Given the description of an element on the screen output the (x, y) to click on. 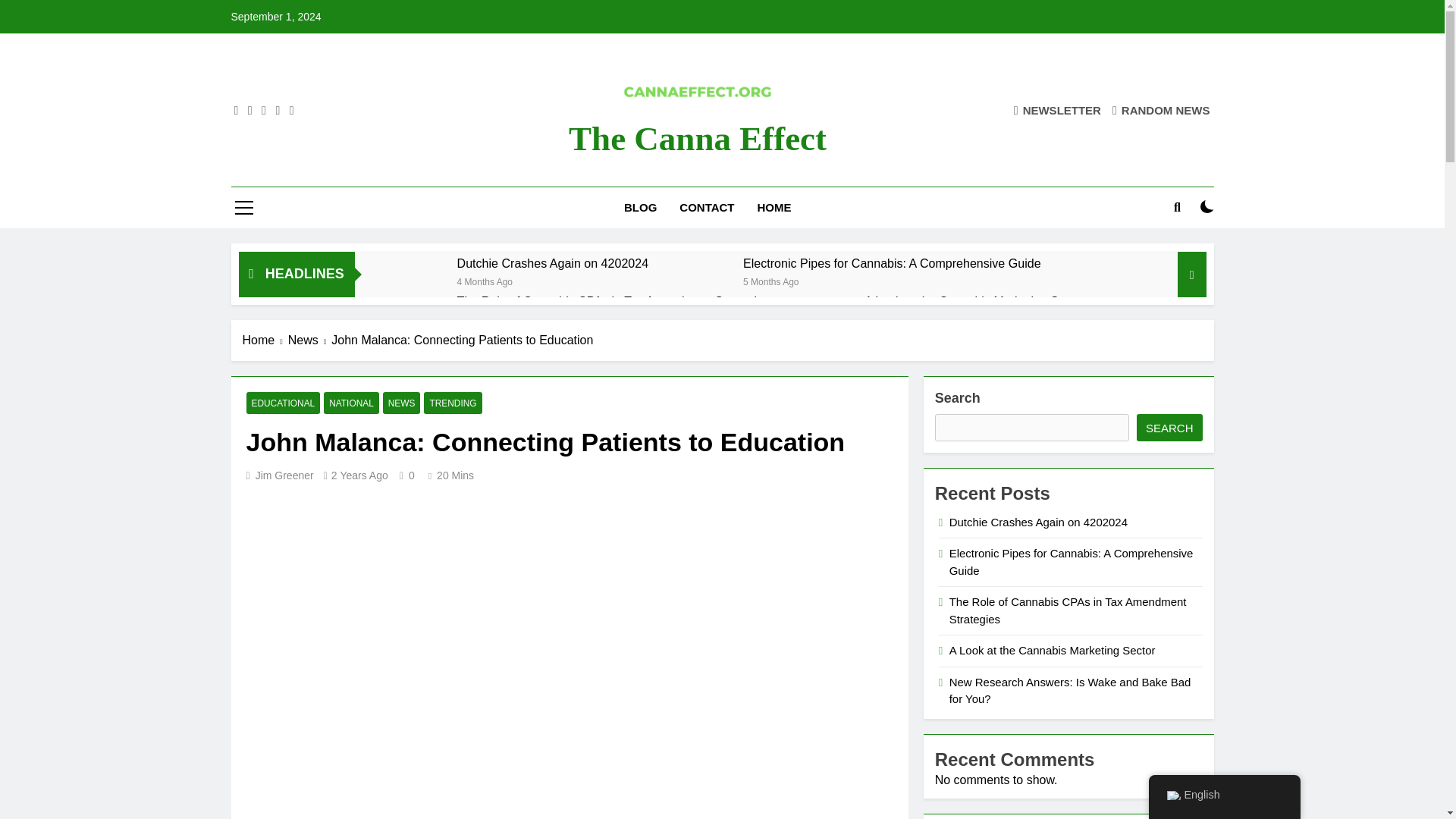
A Look at the Cannabis Marketing Sector (975, 301)
5 Months Ago (769, 280)
Dutchie Crashes Again on 4202024 (413, 283)
The Canna Effect (698, 138)
Electronic Pipes for Cannabis: A Comprehensive Guide (891, 263)
Dutchie Crashes Again on 4202024 (552, 263)
CONTACT (706, 207)
HOME (774, 207)
Electronic Pipes for Cannabis: A Comprehensive Guide (891, 263)
BLOG (640, 207)
